Given the description of an element on the screen output the (x, y) to click on. 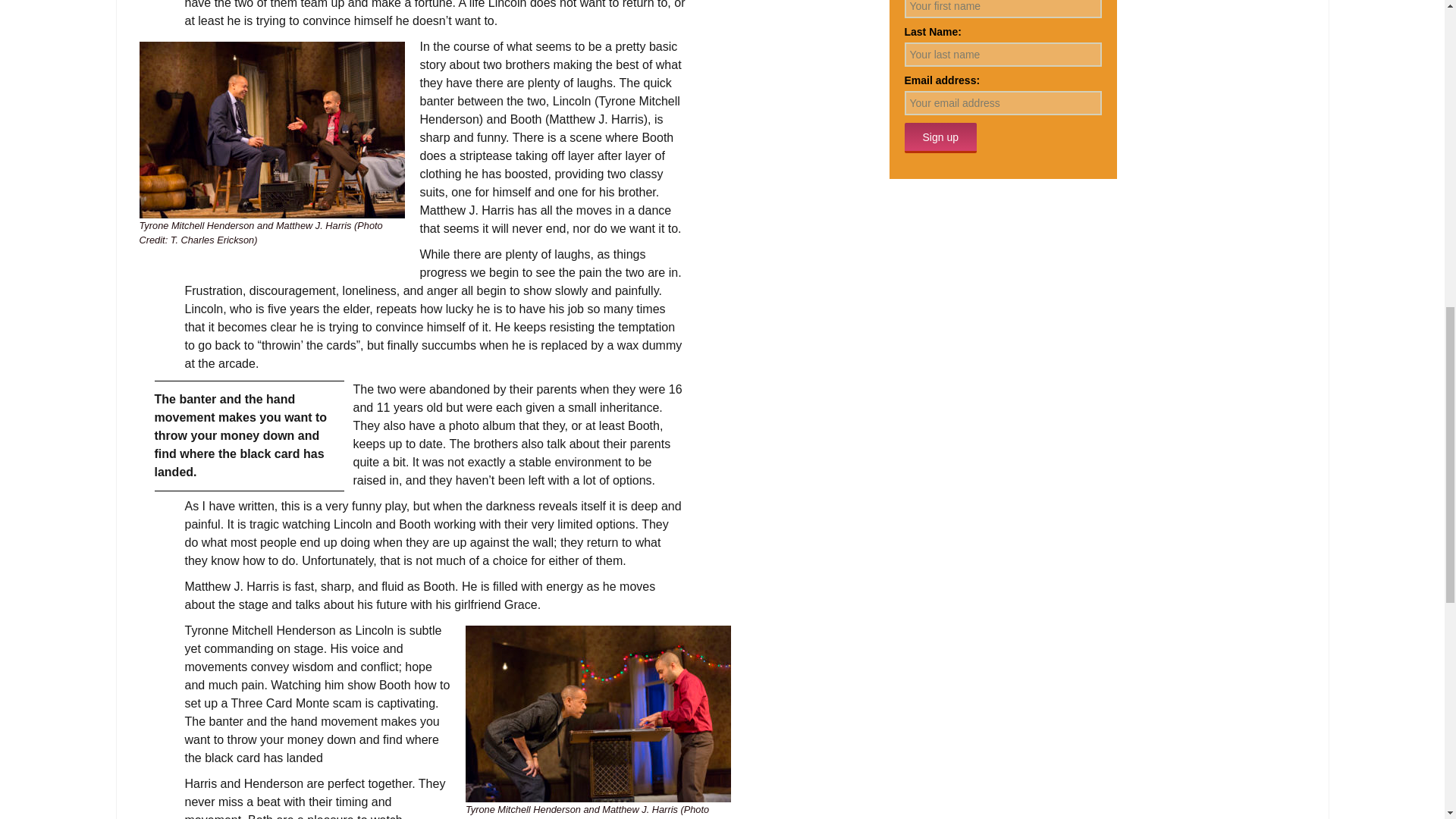
Sign up (939, 137)
Page 1 (434, 119)
Page 3 (434, 796)
